Given the description of an element on the screen output the (x, y) to click on. 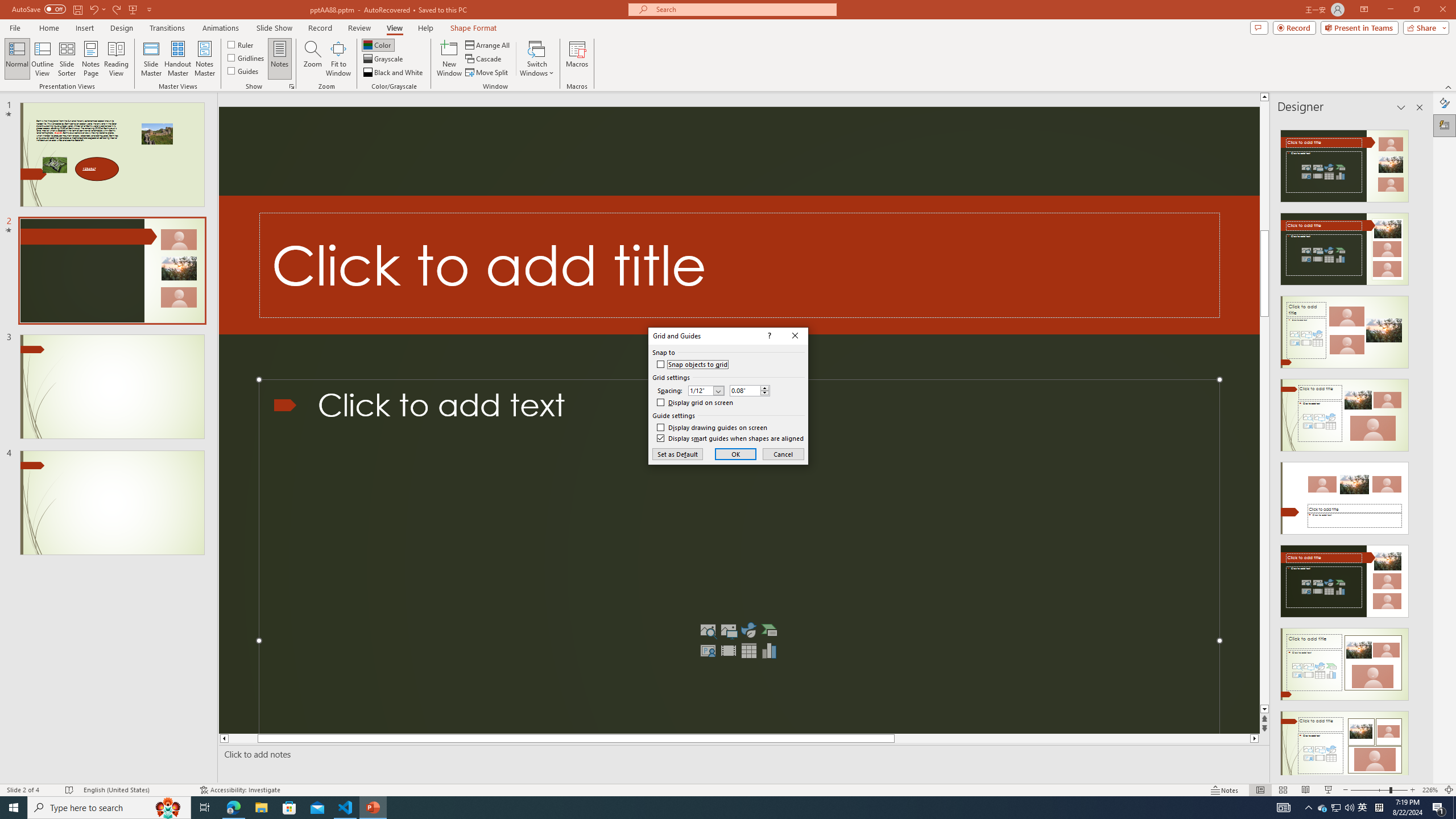
Notes Master (204, 58)
Cancel (783, 453)
Insert Chart (769, 650)
Color (377, 44)
Slide Master (151, 58)
